Given the description of an element on the screen output the (x, y) to click on. 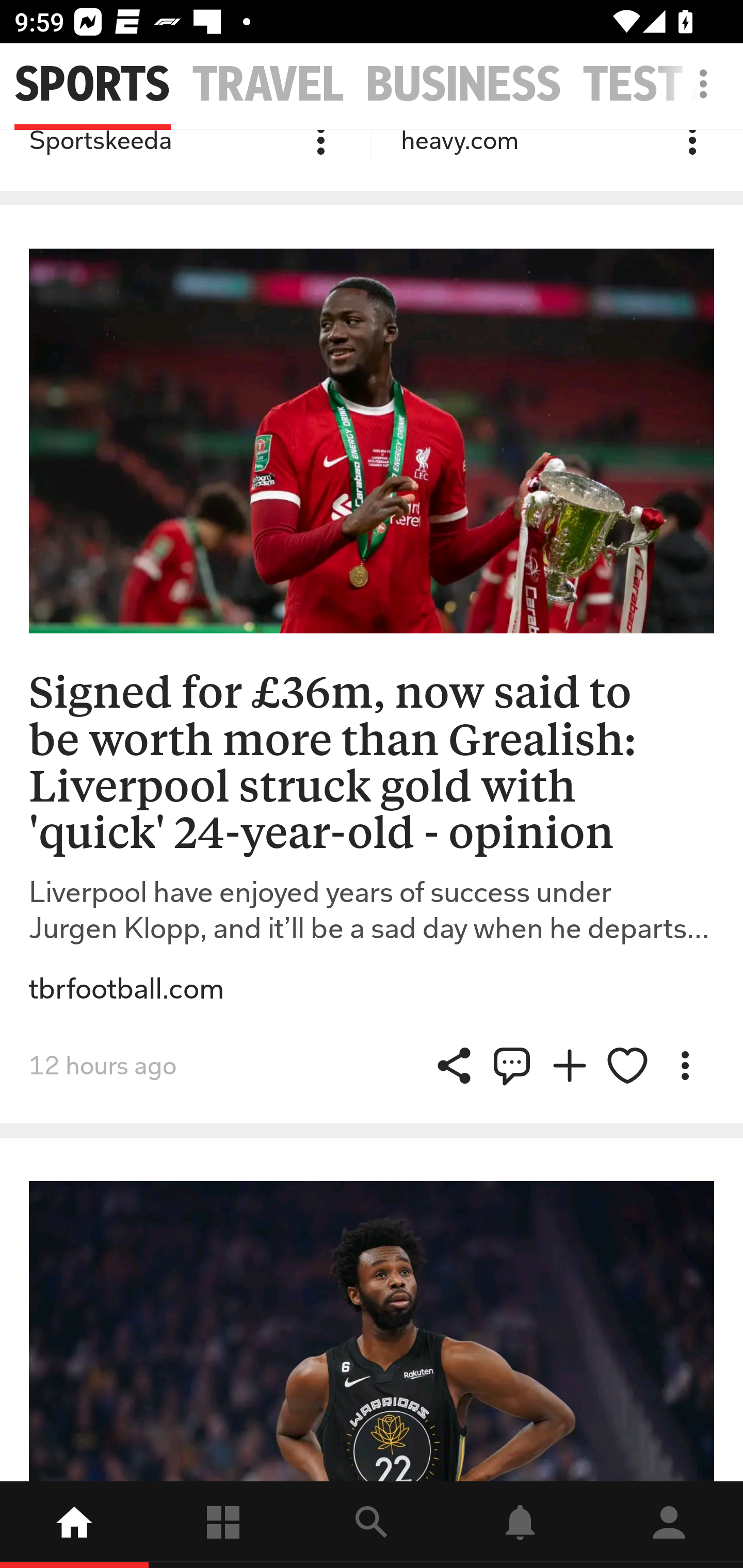
SPORTS (92, 84)
TRAVEL (268, 84)
BUSINESS (463, 84)
TEST APPIUM (663, 84)
Edit Home (697, 83)
Options (320, 145)
Options (692, 145)
Share (453, 1065)
Share (511, 1065)
Flip into Magazine (569, 1065)
Like (627, 1065)
Options (685, 1065)
home (74, 1524)
Following (222, 1524)
explore (371, 1524)
Notifications (519, 1524)
Profile (668, 1524)
